Given the description of an element on the screen output the (x, y) to click on. 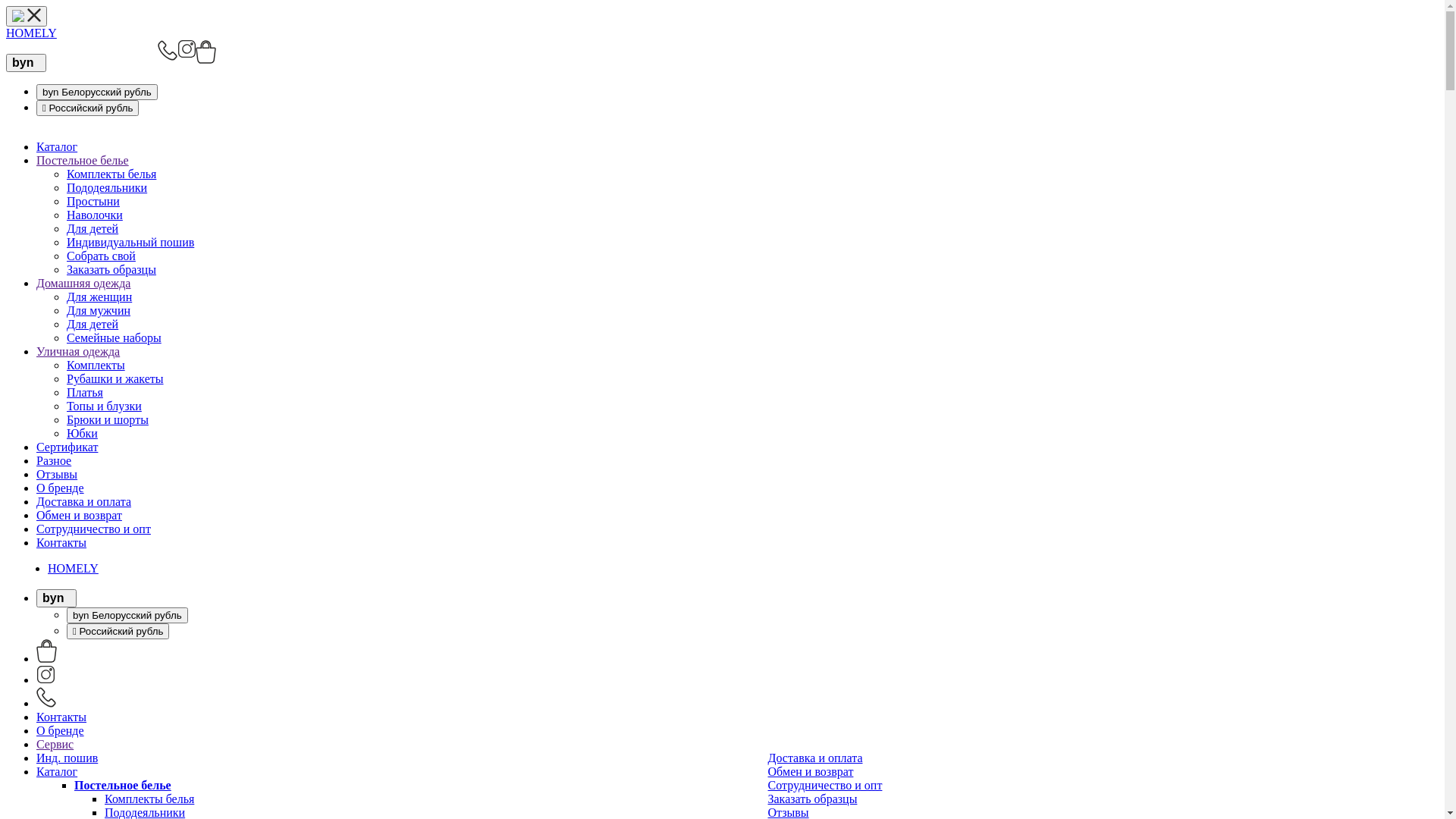
Instagram Element type: hover (45, 679)
HOMELY Element type: text (31, 32)
HOMELY Element type: text (72, 567)
Instagram Element type: hover (186, 84)
byn   Element type: text (56, 598)
byn   Element type: text (26, 62)
